Given the description of an element on the screen output the (x, y) to click on. 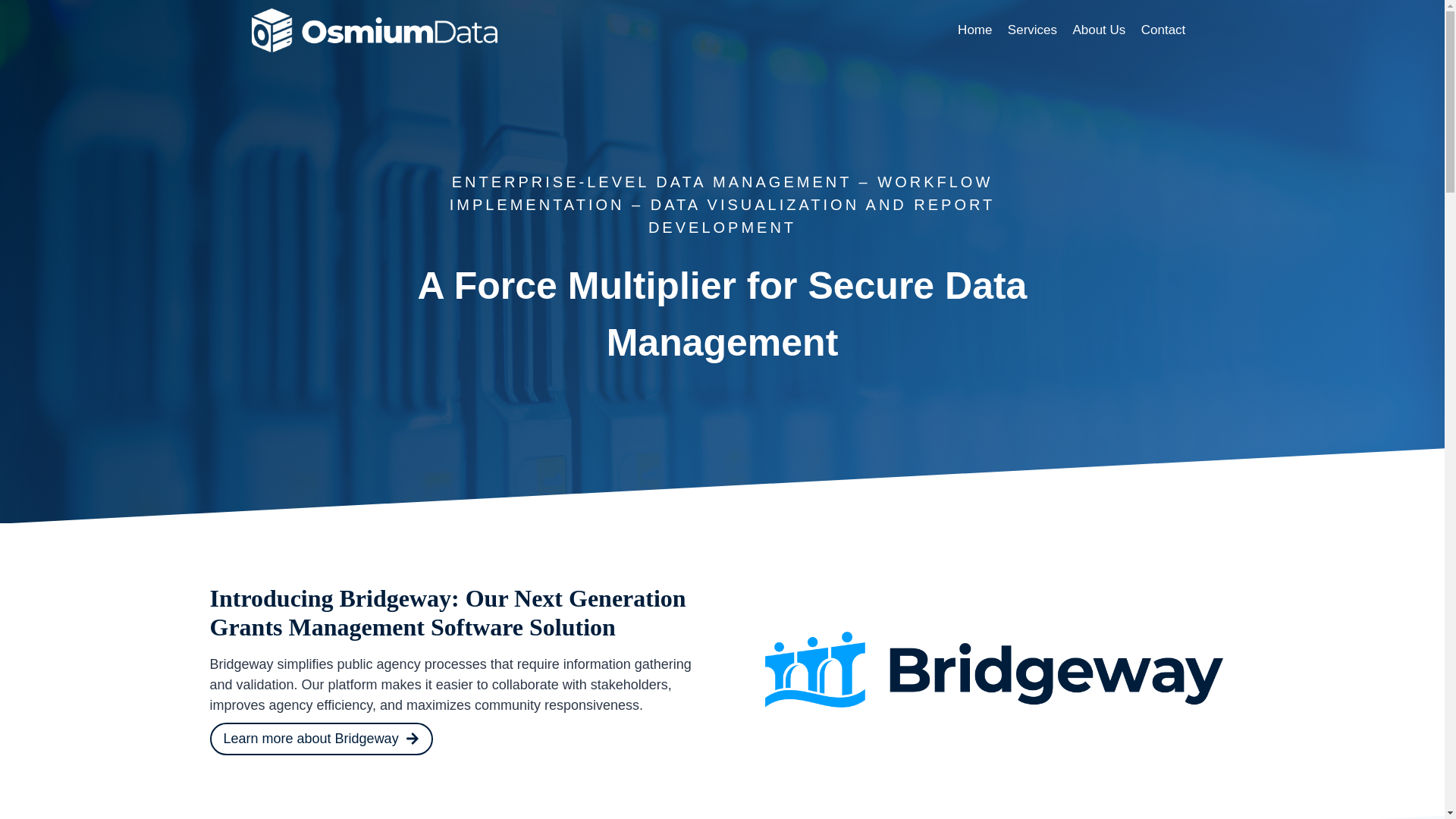
Services (1032, 30)
Learn more about Bridgeway (320, 738)
Contact (1163, 30)
Home (975, 30)
About Us (1098, 30)
